Given the description of an element on the screen output the (x, y) to click on. 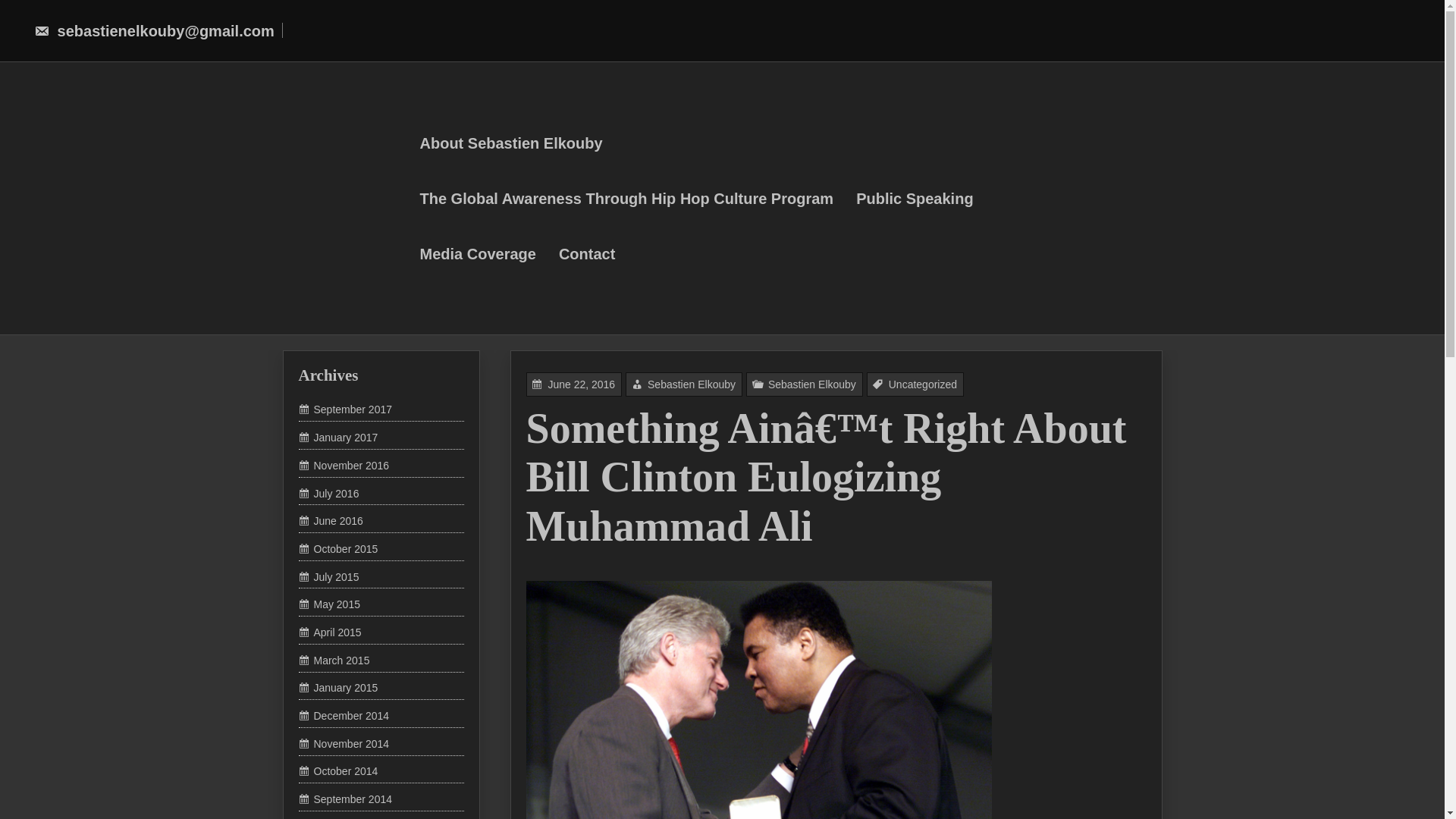
September 2014 (345, 798)
January 2017 (338, 437)
October 2014 (338, 771)
June 22, 2016 (666, 576)
Sebastien Elkouby (826, 528)
January 2015 (338, 687)
March 2015 (333, 660)
July 2016 (328, 493)
October 2015 (338, 549)
November 2014 (344, 744)
